Given the description of an element on the screen output the (x, y) to click on. 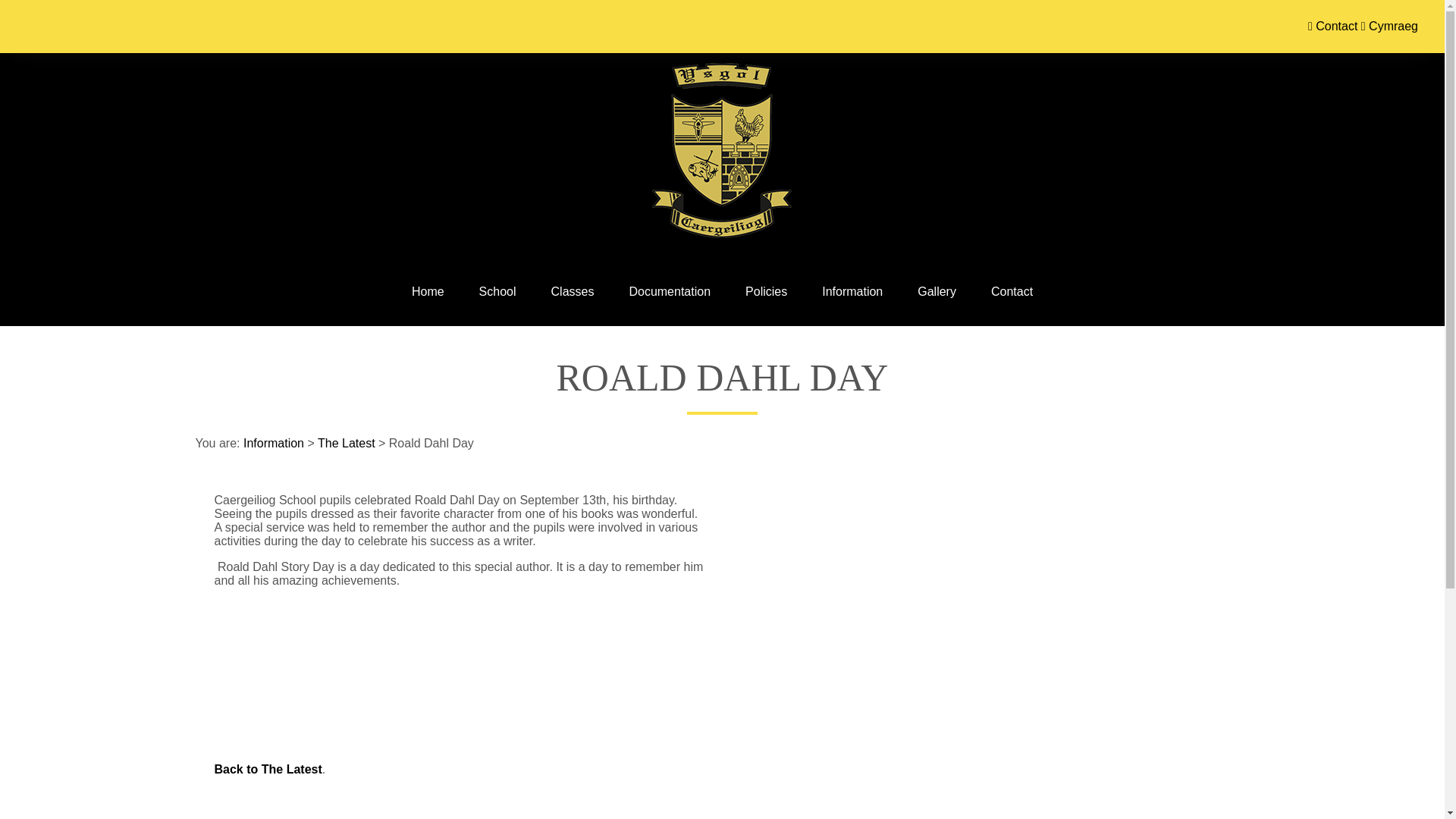
Documentation (668, 291)
YouTube video player (948, 600)
School (497, 291)
Policies (766, 291)
Information (852, 291)
Home (428, 291)
Classes (572, 291)
Contact (1334, 25)
Cymraeg (1389, 25)
